Given the description of an element on the screen output the (x, y) to click on. 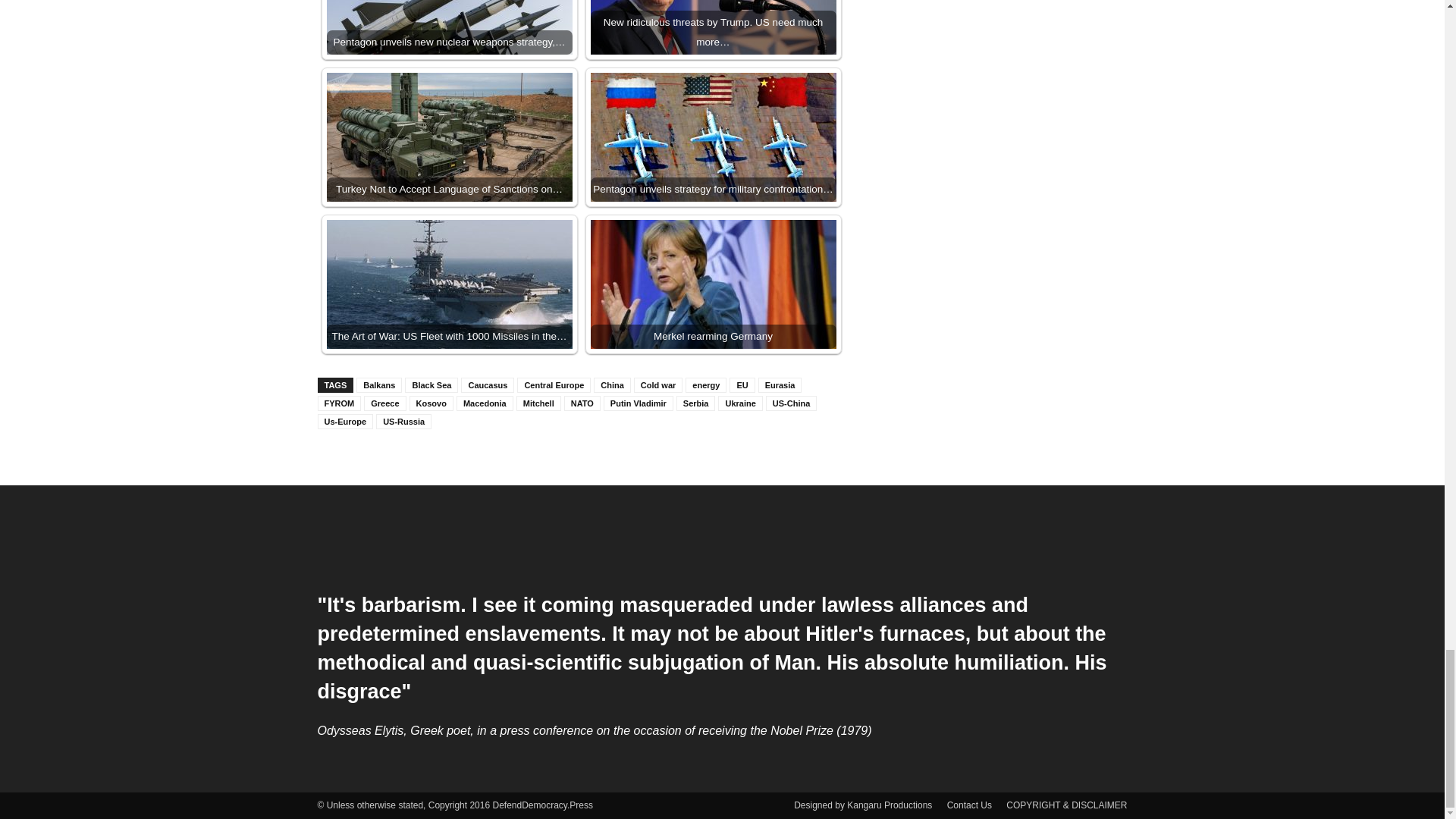
Merkel rearming Germany (712, 284)
